Given the description of an element on the screen output the (x, y) to click on. 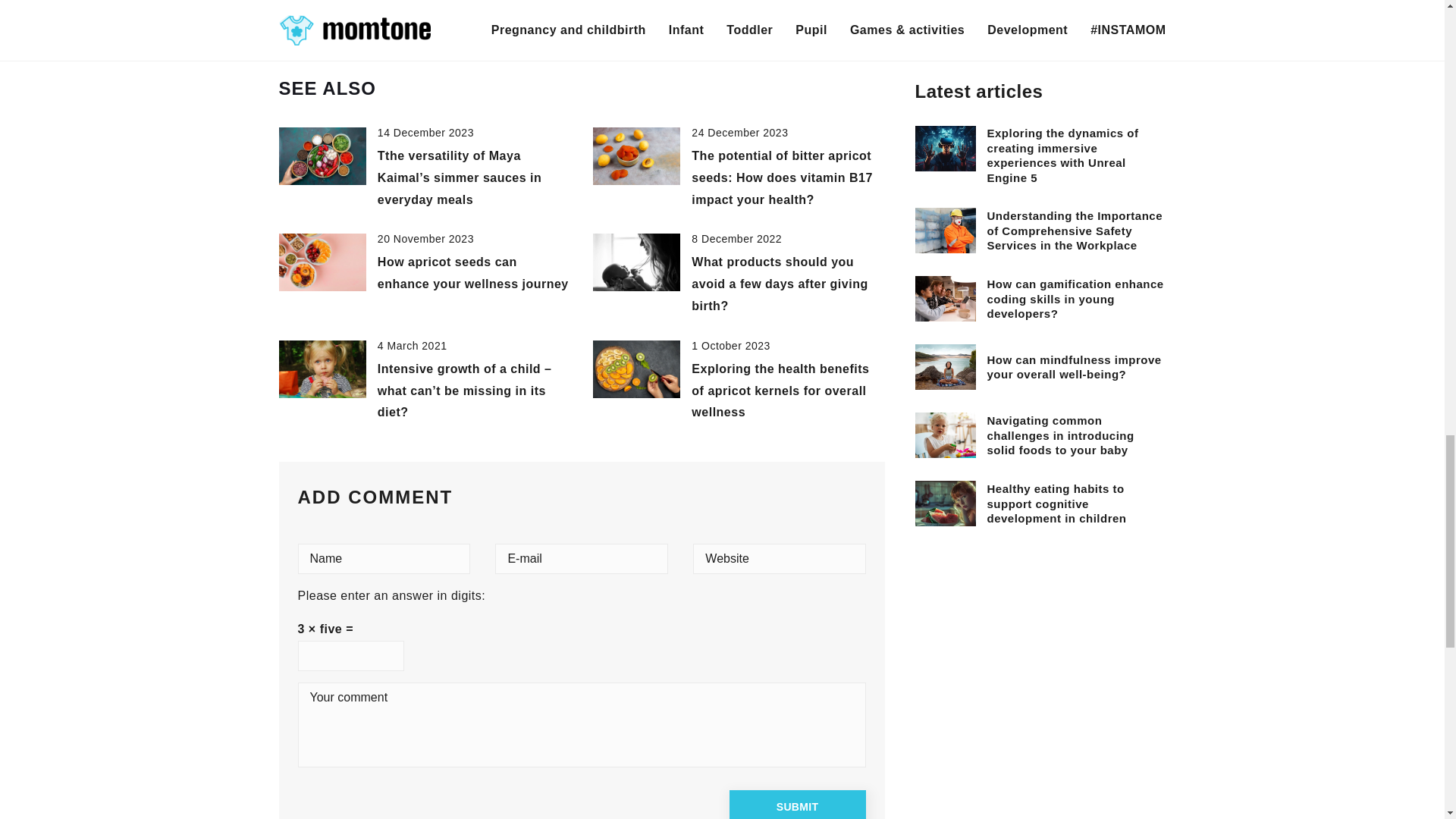
Submit (797, 804)
Submit (797, 804)
How apricot seeds can enhance your wellness journey (473, 272)
